Given the description of an element on the screen output the (x, y) to click on. 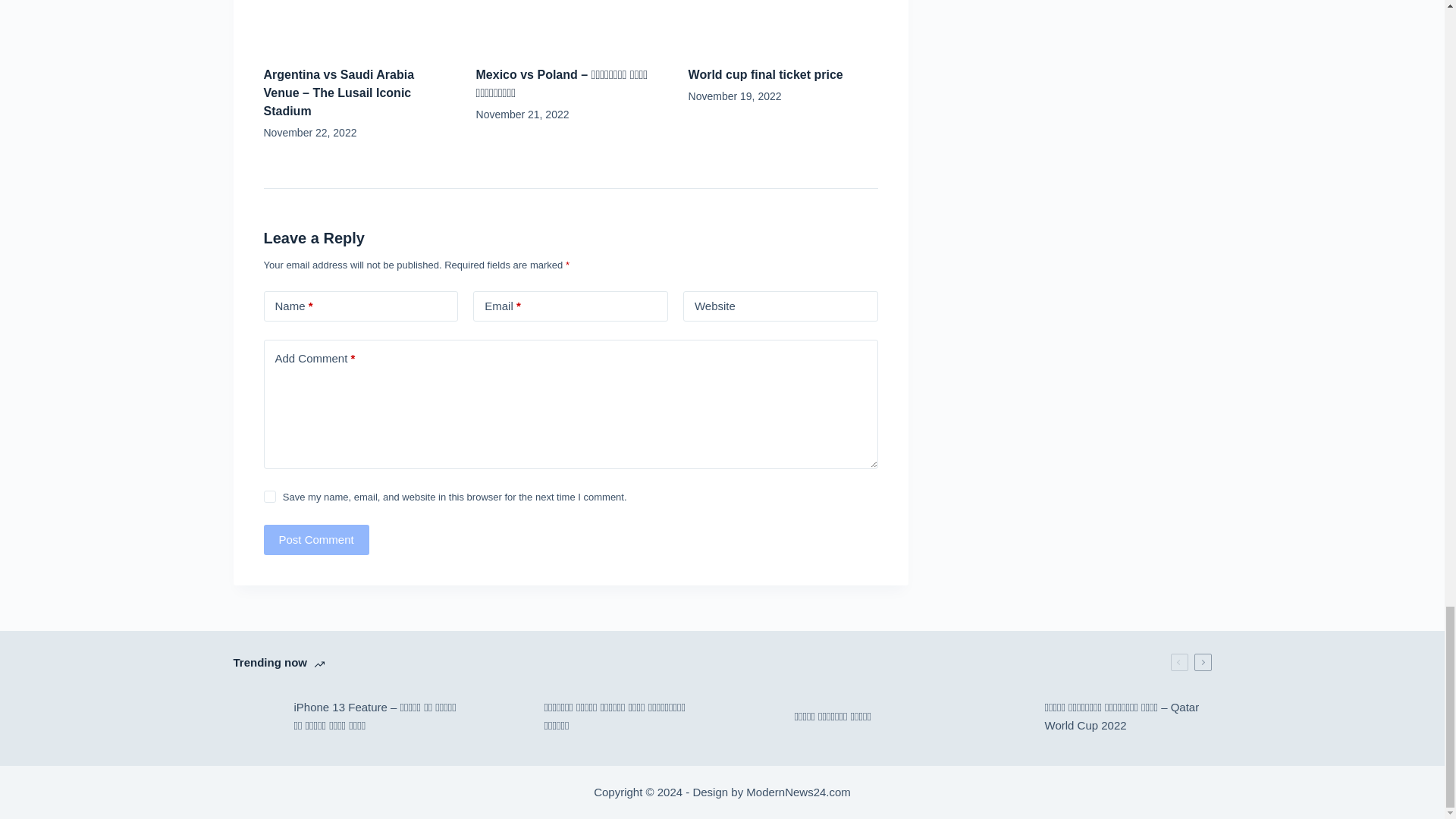
yes (269, 496)
